Given the description of an element on the screen output the (x, y) to click on. 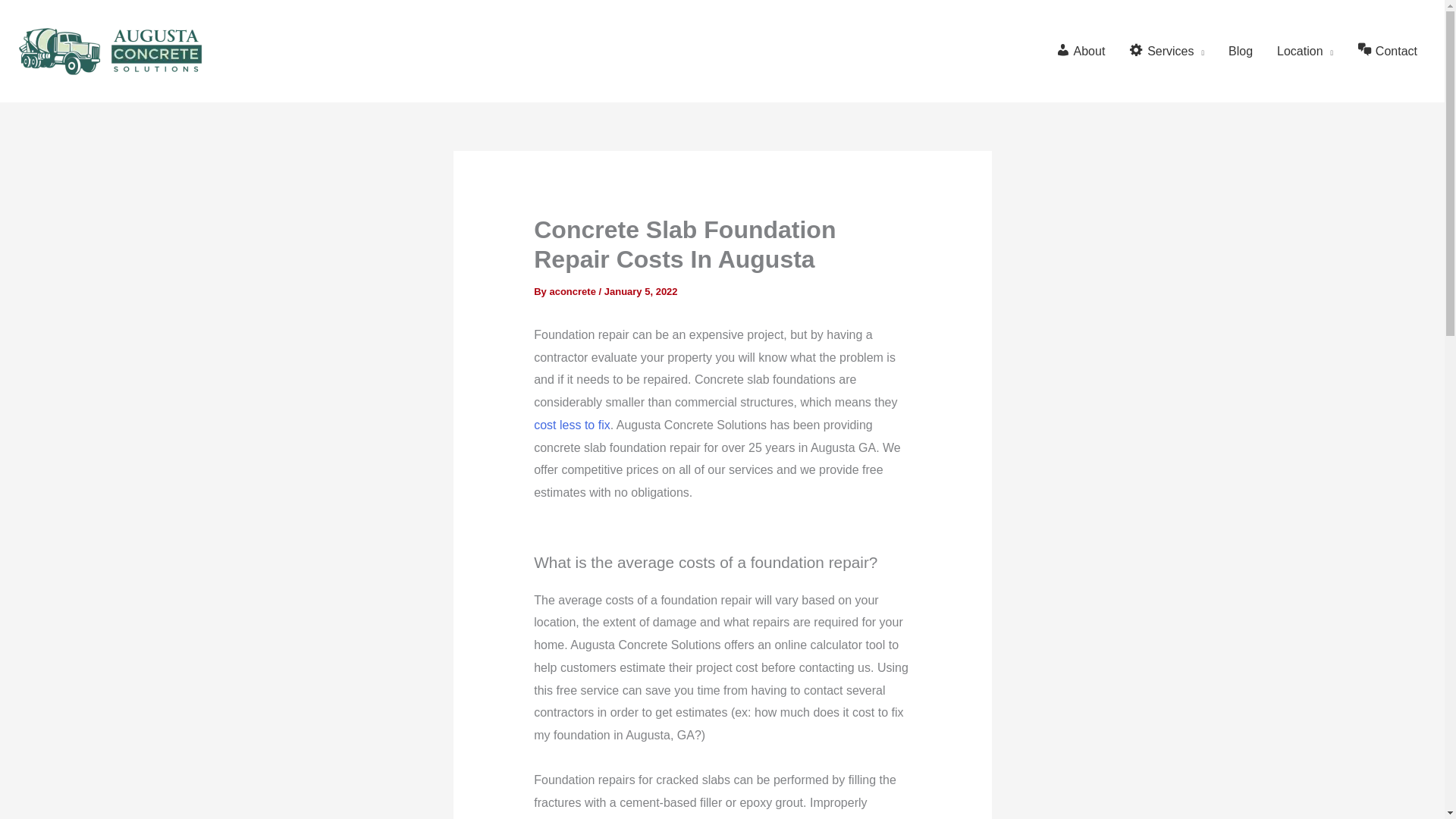
Contact (1387, 51)
aconcrete (573, 291)
View all posts by aconcrete (573, 291)
Services (1165, 51)
Blog (1240, 51)
About (1080, 51)
Location (1305, 51)
cost less to fix (572, 424)
